Given the description of an element on the screen output the (x, y) to click on. 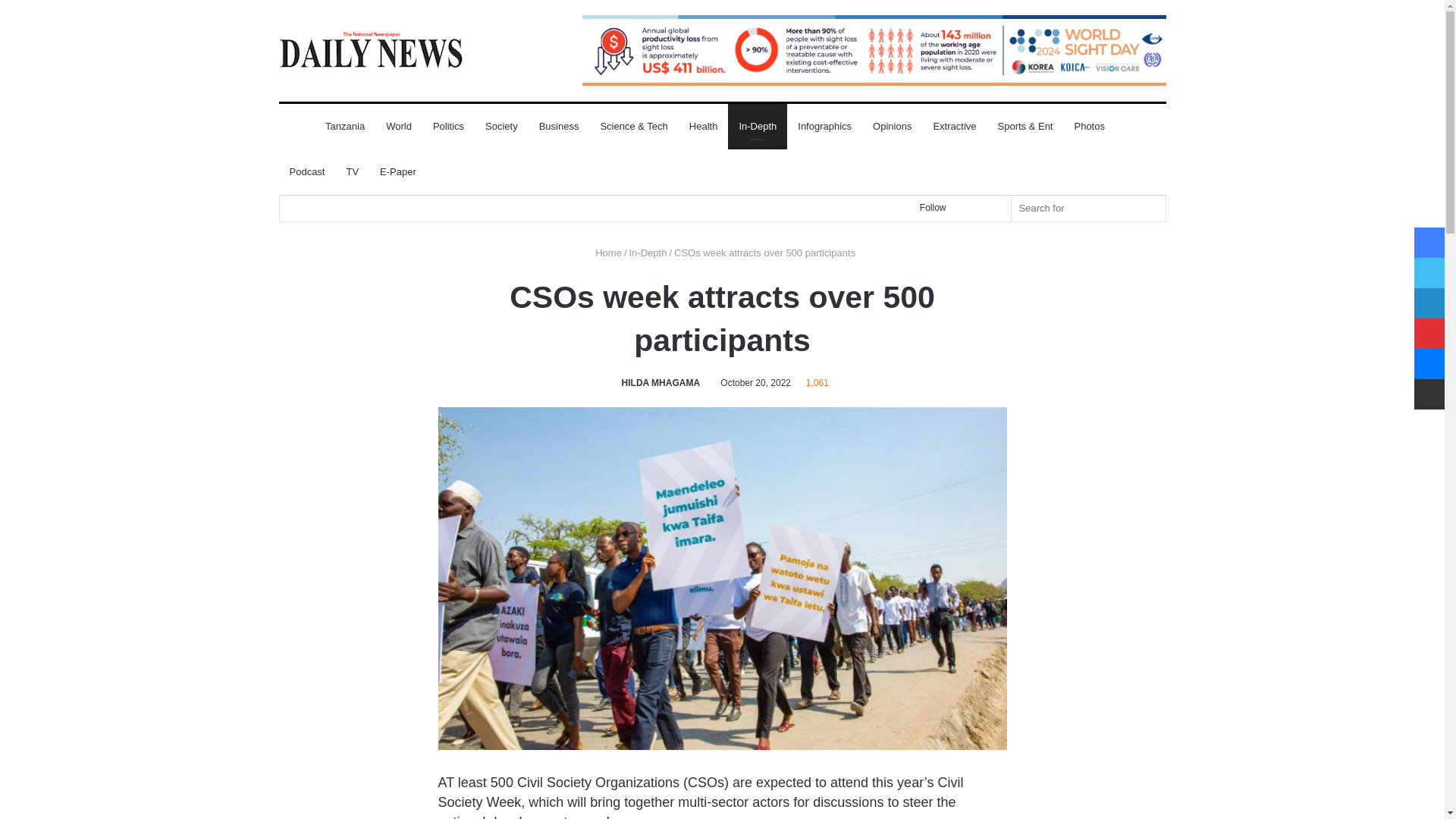
Search for (1088, 207)
Photos (1088, 126)
Daily News (371, 48)
Podcast (307, 171)
Tanzania (344, 126)
HILDA MHAGAMA (657, 382)
Politics (448, 126)
In-Depth (757, 126)
E-Paper (397, 171)
Business (558, 126)
